Given the description of an element on the screen output the (x, y) to click on. 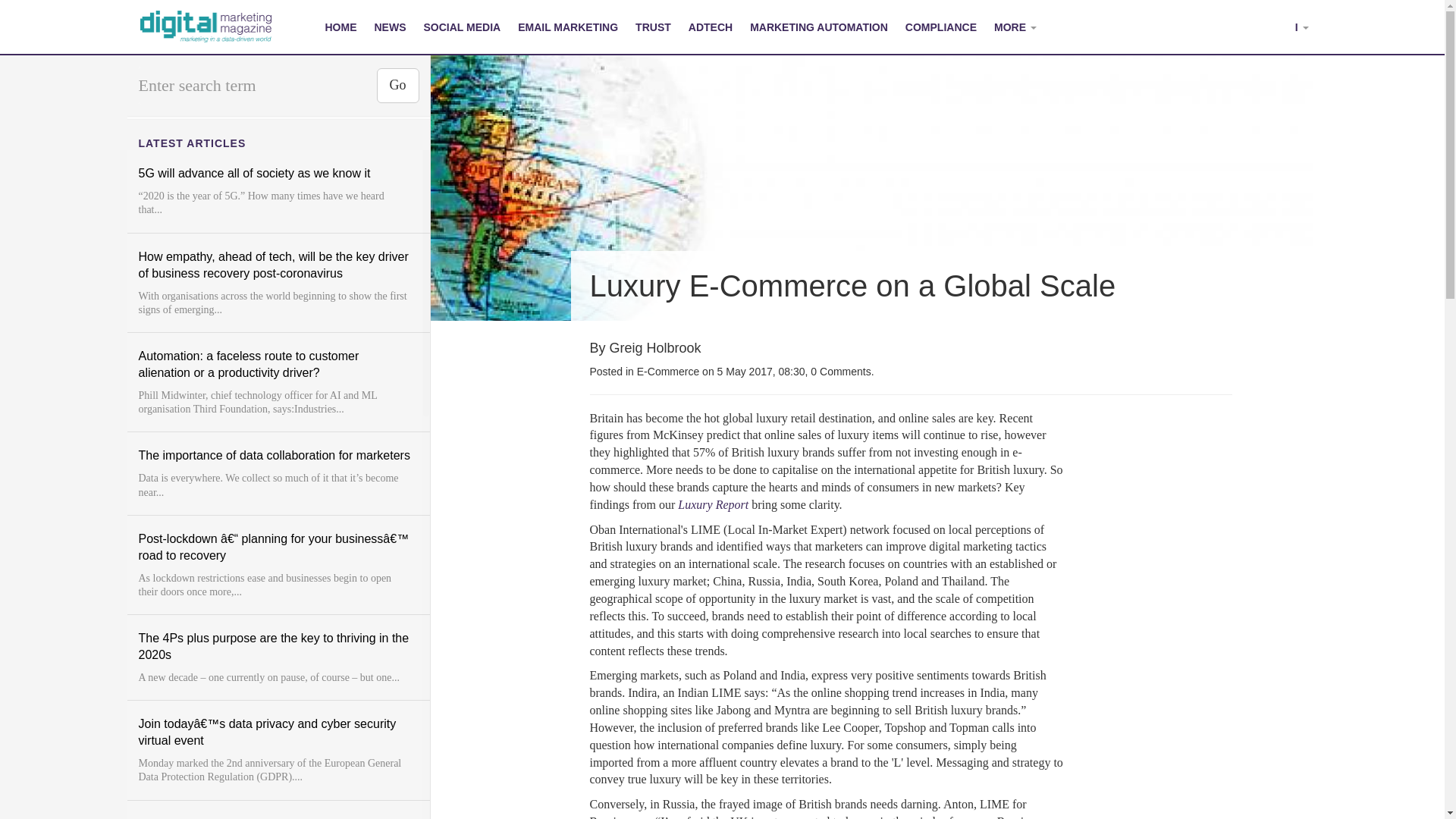
EMAIL MARKETING (568, 27)
ADTECH (710, 27)
TRUST (653, 27)
COMPLIANCE (940, 27)
SOCIAL MEDIA (462, 27)
MORE (1015, 27)
NEWS (389, 27)
MARKETING AUTOMATION (818, 27)
HOME (341, 27)
Go (397, 85)
